Given the description of an element on the screen output the (x, y) to click on. 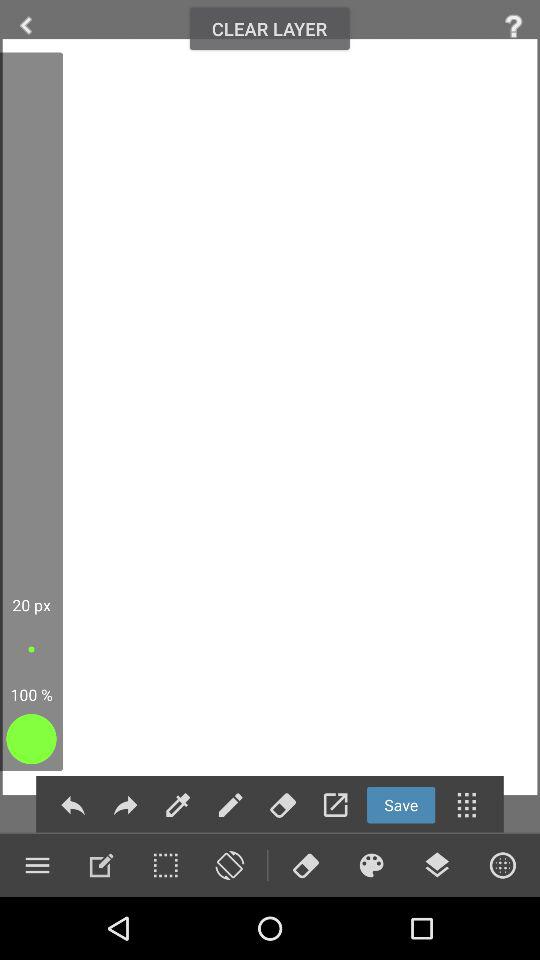
menu (177, 804)
